Given the description of an element on the screen output the (x, y) to click on. 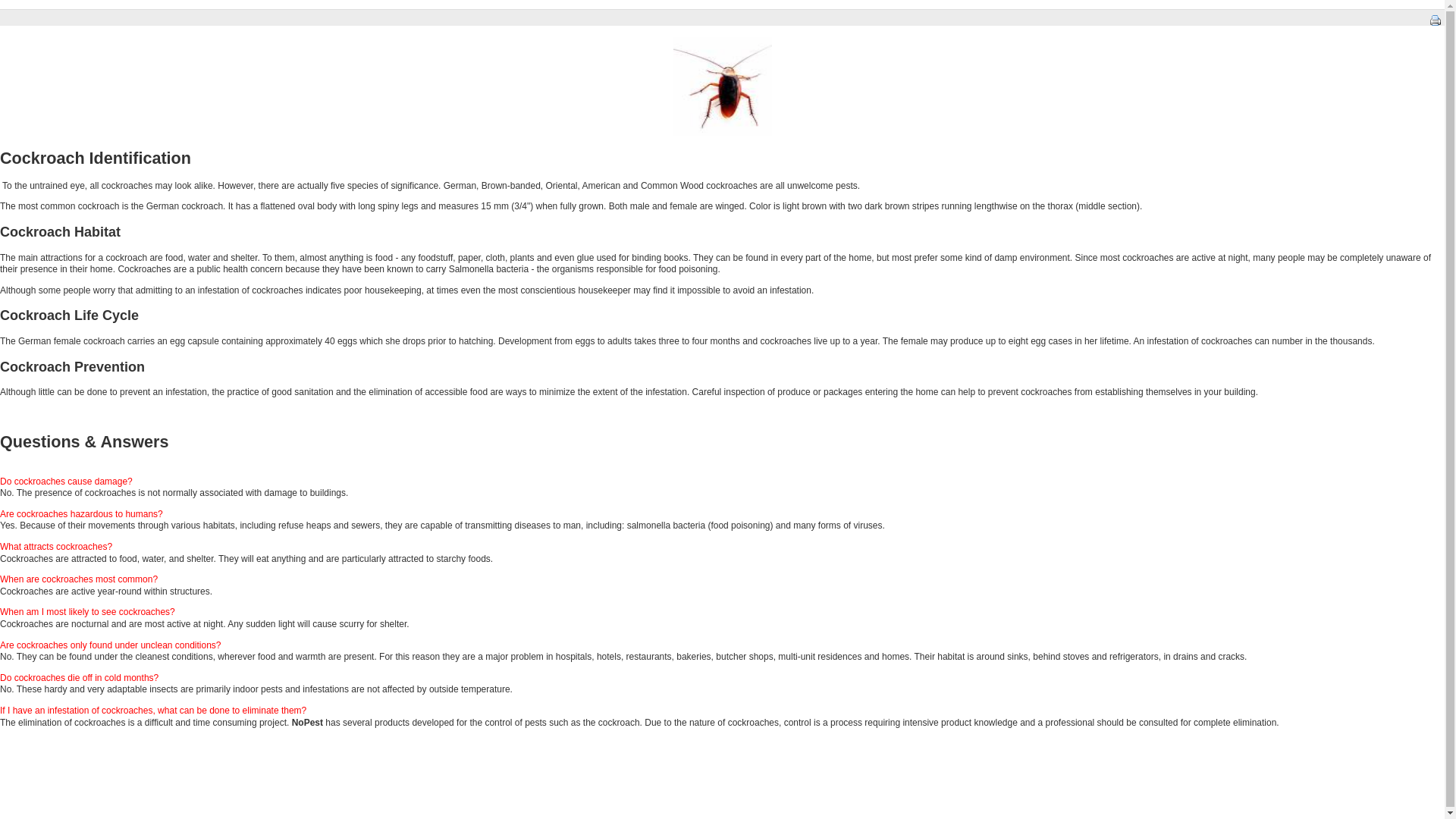
Cockroach Element type: hover (722, 86)
